Given the description of an element on the screen output the (x, y) to click on. 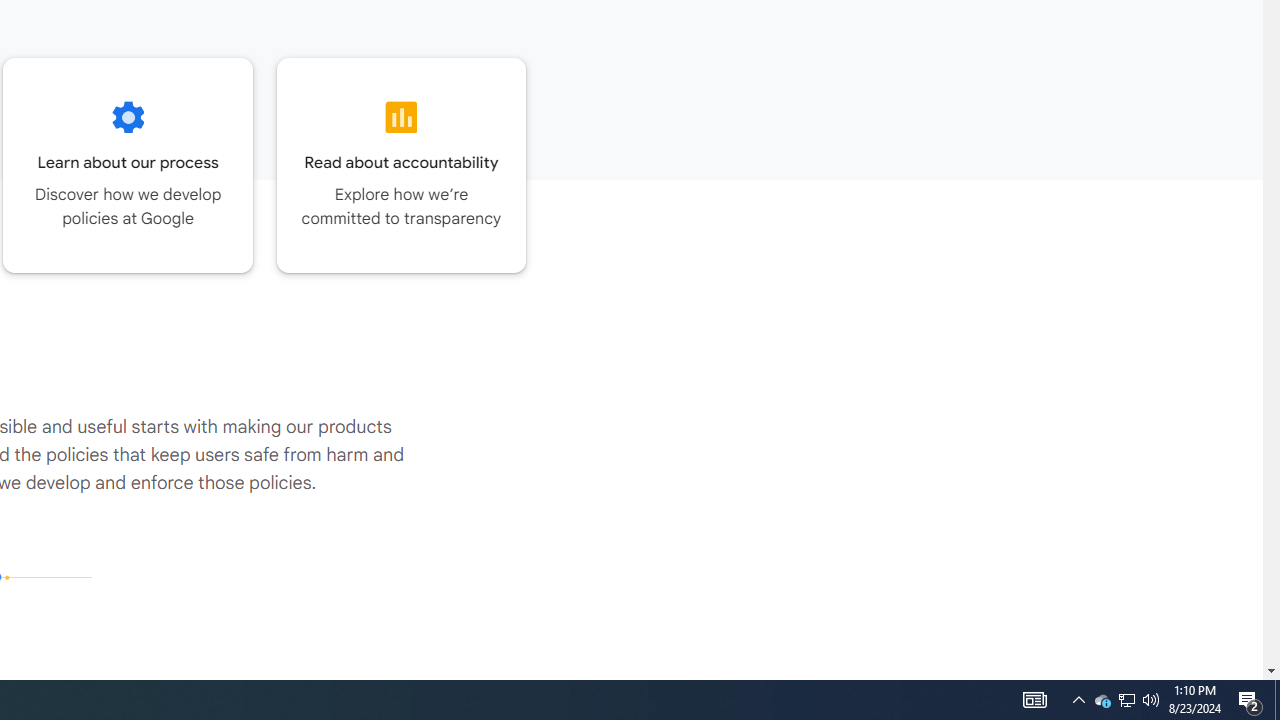
Go to the Our process page (127, 165)
Go to the Accountability page (401, 165)
